Given the description of an element on the screen output the (x, y) to click on. 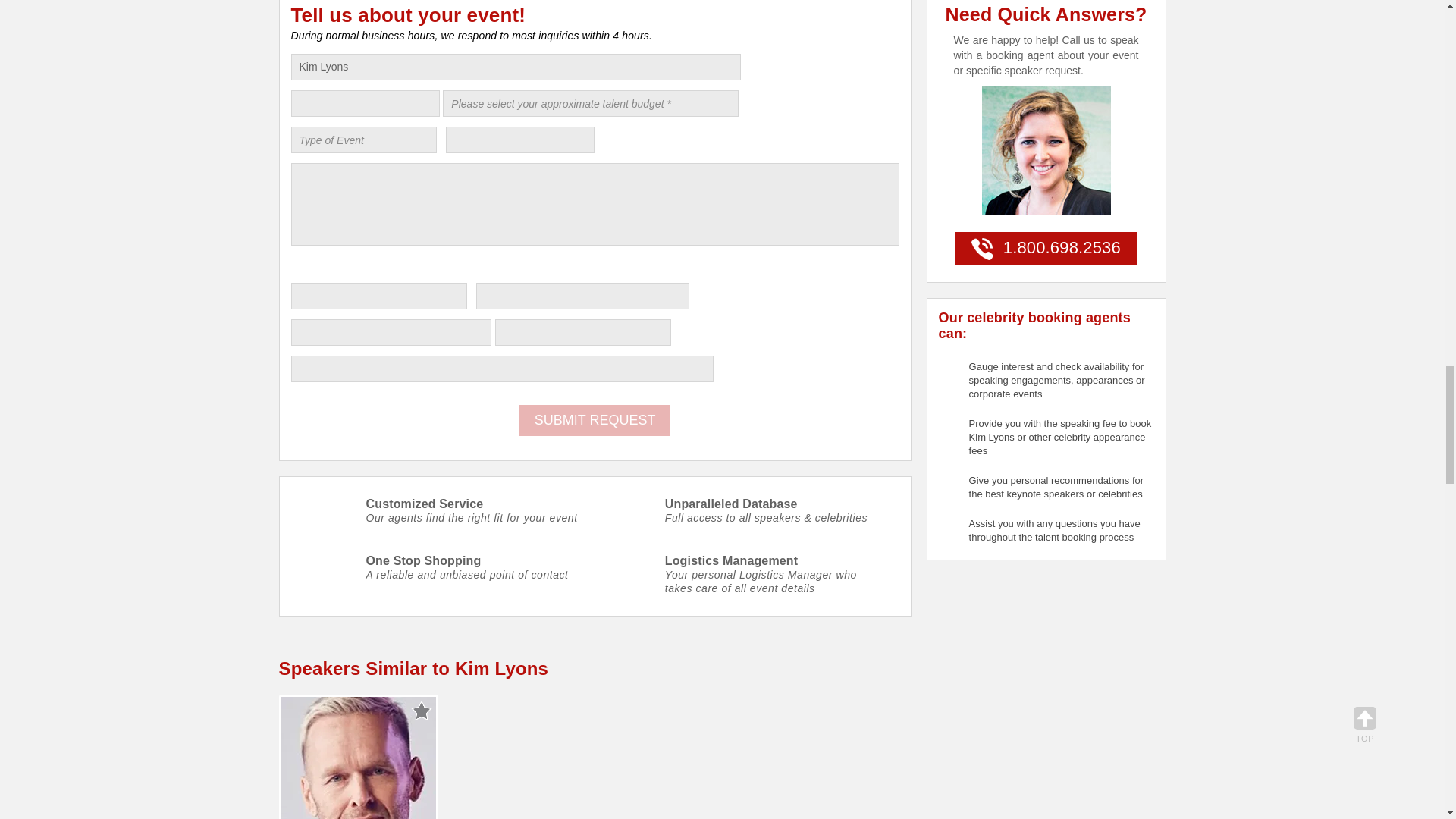
Kim Lyons (516, 67)
SUBMIT REQUEST (595, 419)
Bob Harper (358, 757)
